Given the description of an element on the screen output the (x, y) to click on. 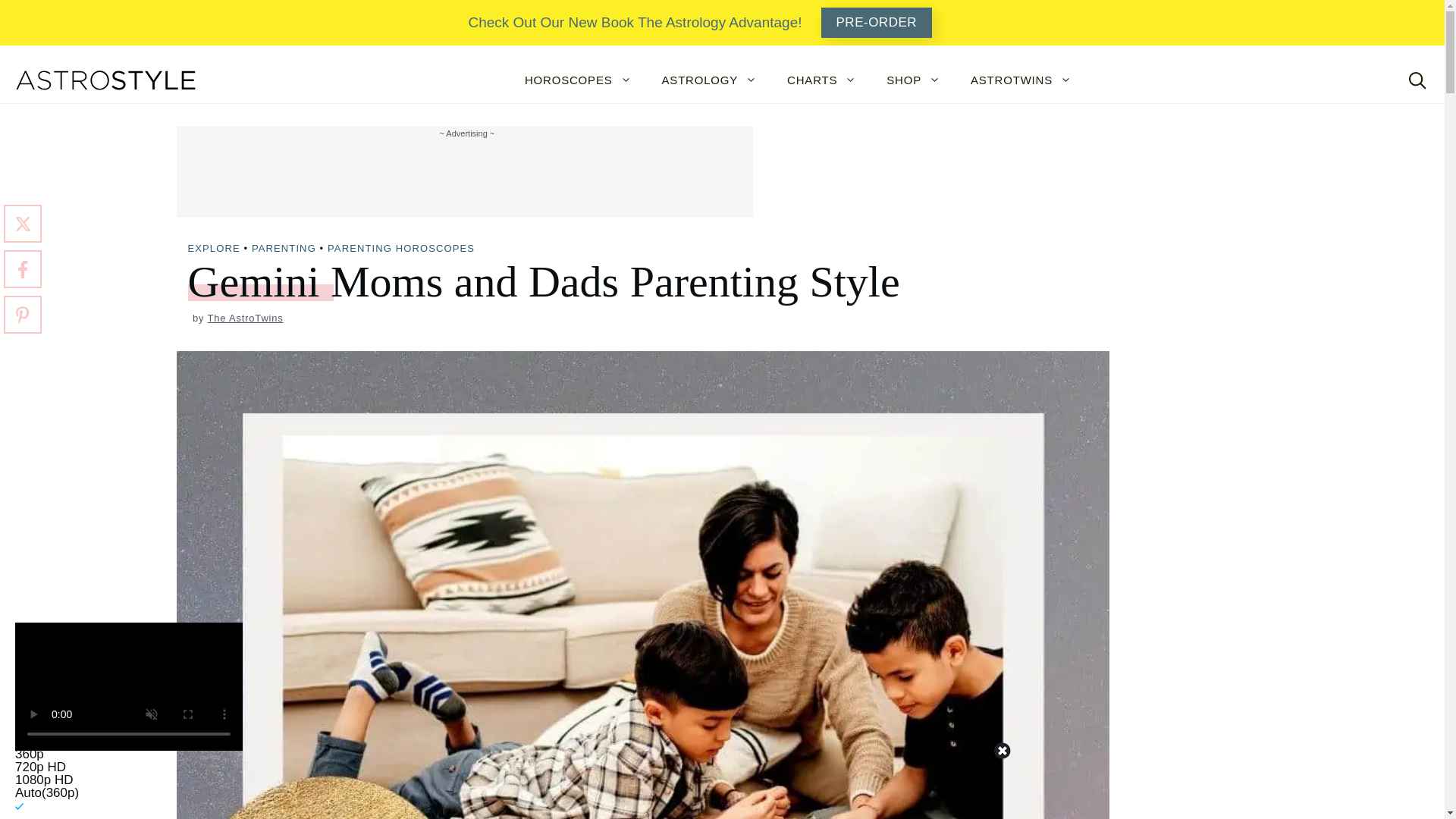
3rd party ad content (726, 785)
HOROSCOPES (577, 80)
View all posts by The AstroTwins (245, 317)
Check Out Our New Book The Astrology Advantage! (634, 23)
ASTROLOGY (709, 80)
PRE-ORDER (877, 22)
3rd party ad content (463, 175)
CHARTS (820, 80)
